Given the description of an element on the screen output the (x, y) to click on. 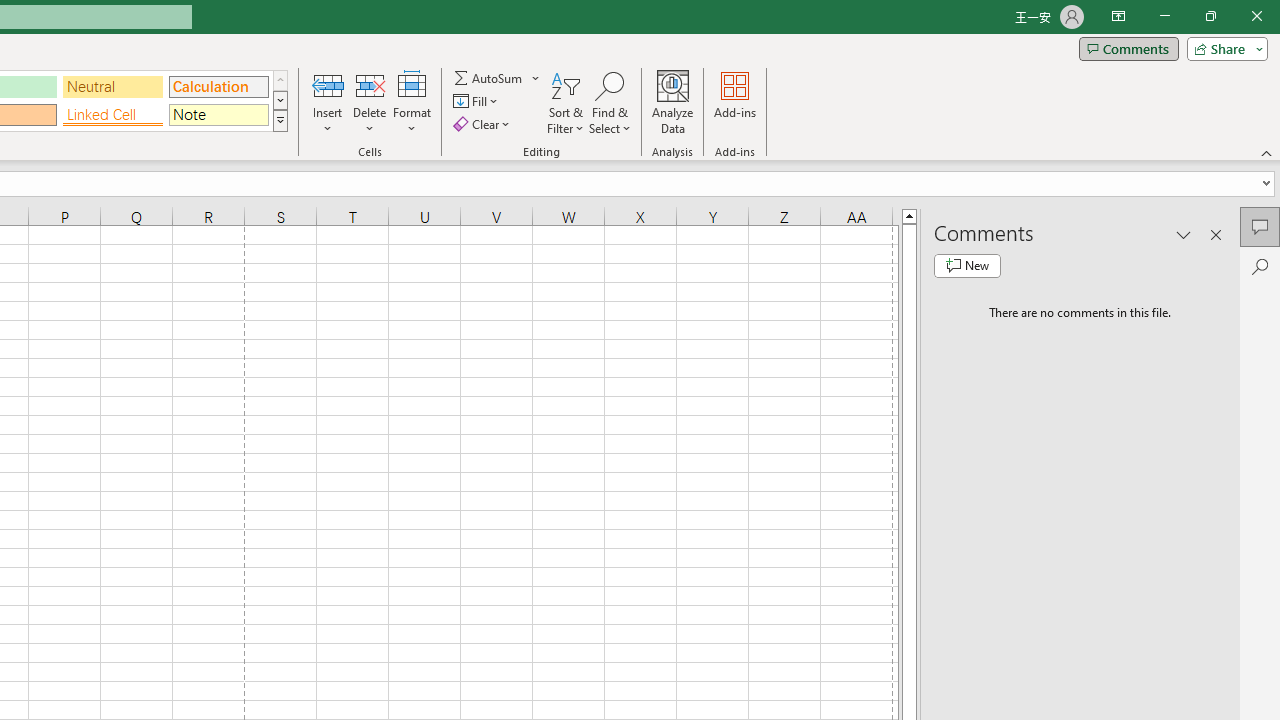
Delete (369, 102)
AutoSum (497, 78)
Restore Down (1210, 16)
Close pane (1215, 234)
Fill (477, 101)
Sum (489, 78)
Format (411, 102)
